Given the description of an element on the screen output the (x, y) to click on. 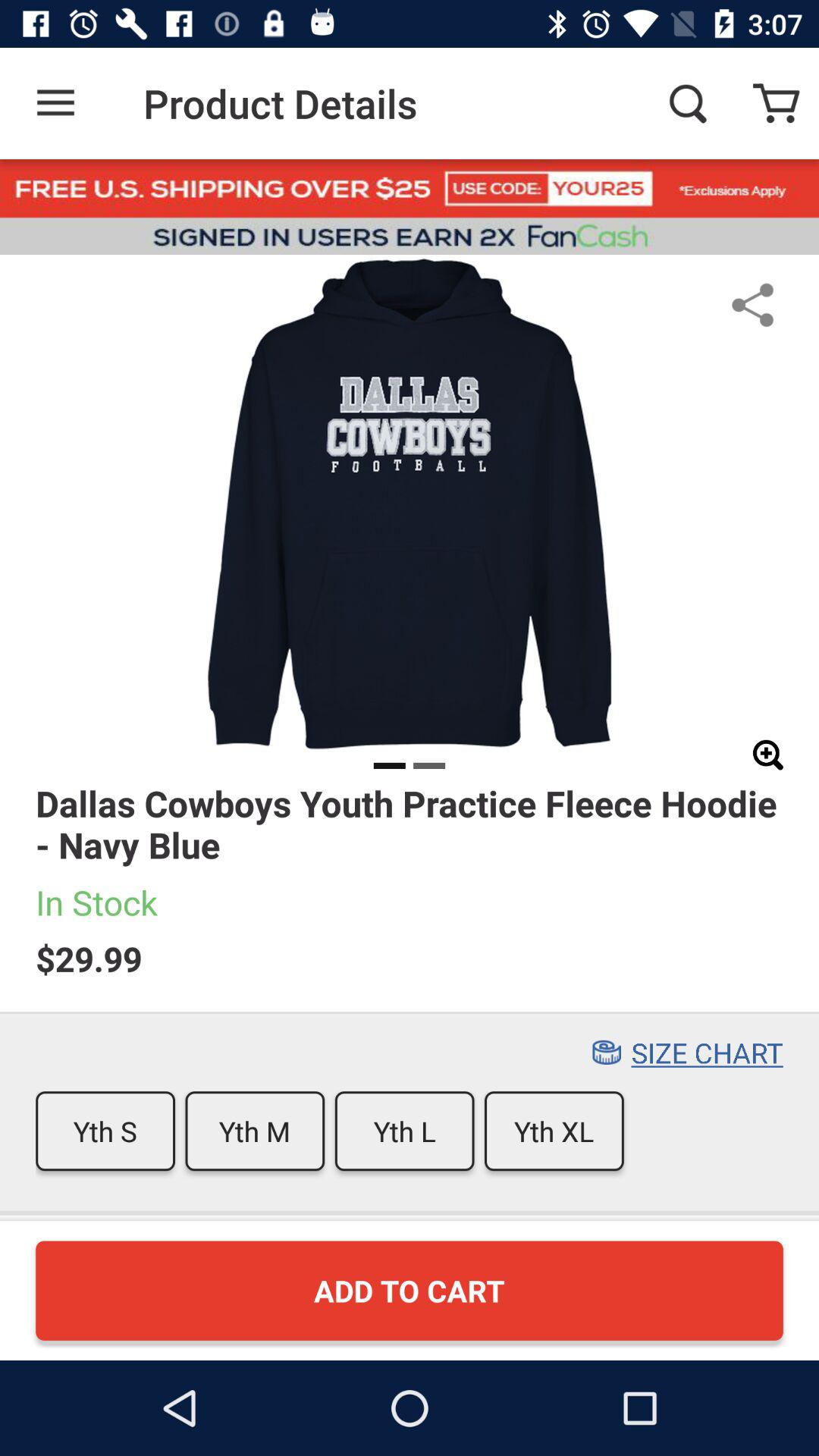
turn off the yth xl icon (553, 1131)
